Given the description of an element on the screen output the (x, y) to click on. 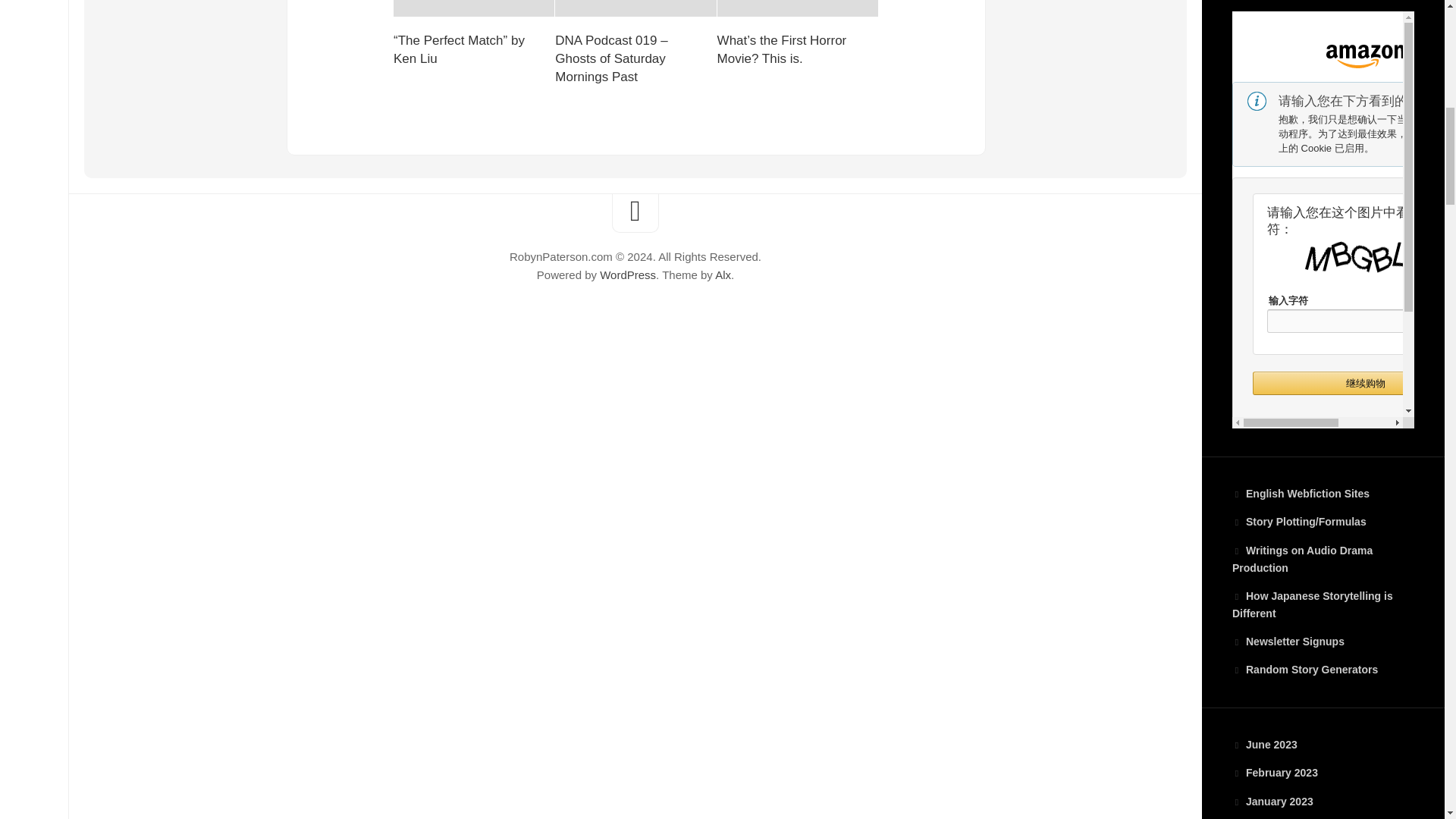
English Webfiction Sites (1322, 493)
June 2023 (1264, 744)
Random Story Generators (1322, 670)
February 2023 (1274, 772)
Writings on Audio Drama Production (1322, 559)
January 2023 (1272, 801)
Newsletter Signups (1322, 642)
How Japanese Storytelling is Different (1322, 605)
